Given the description of an element on the screen output the (x, y) to click on. 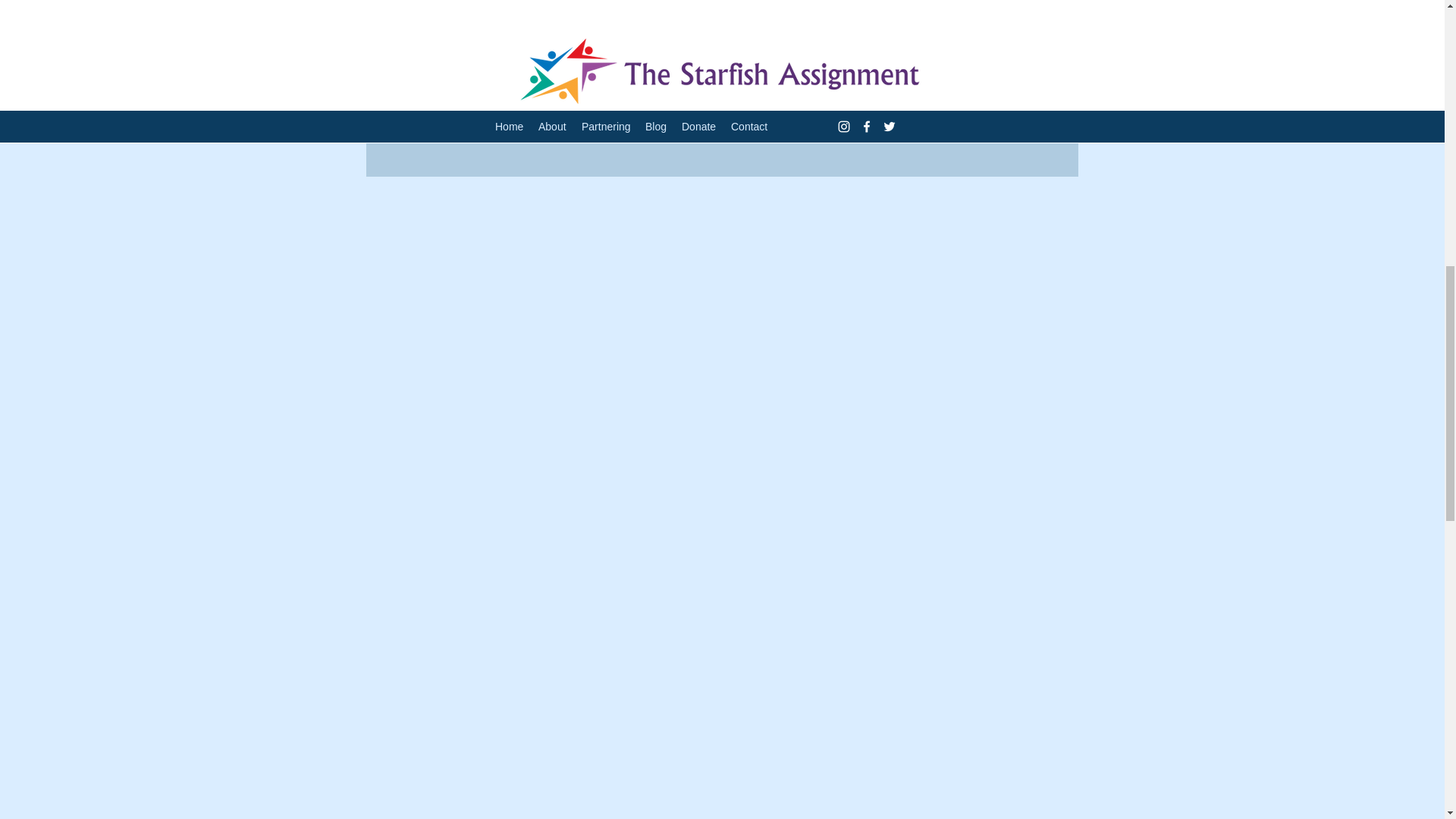
Write a comment... (722, 95)
